Given the description of an element on the screen output the (x, y) to click on. 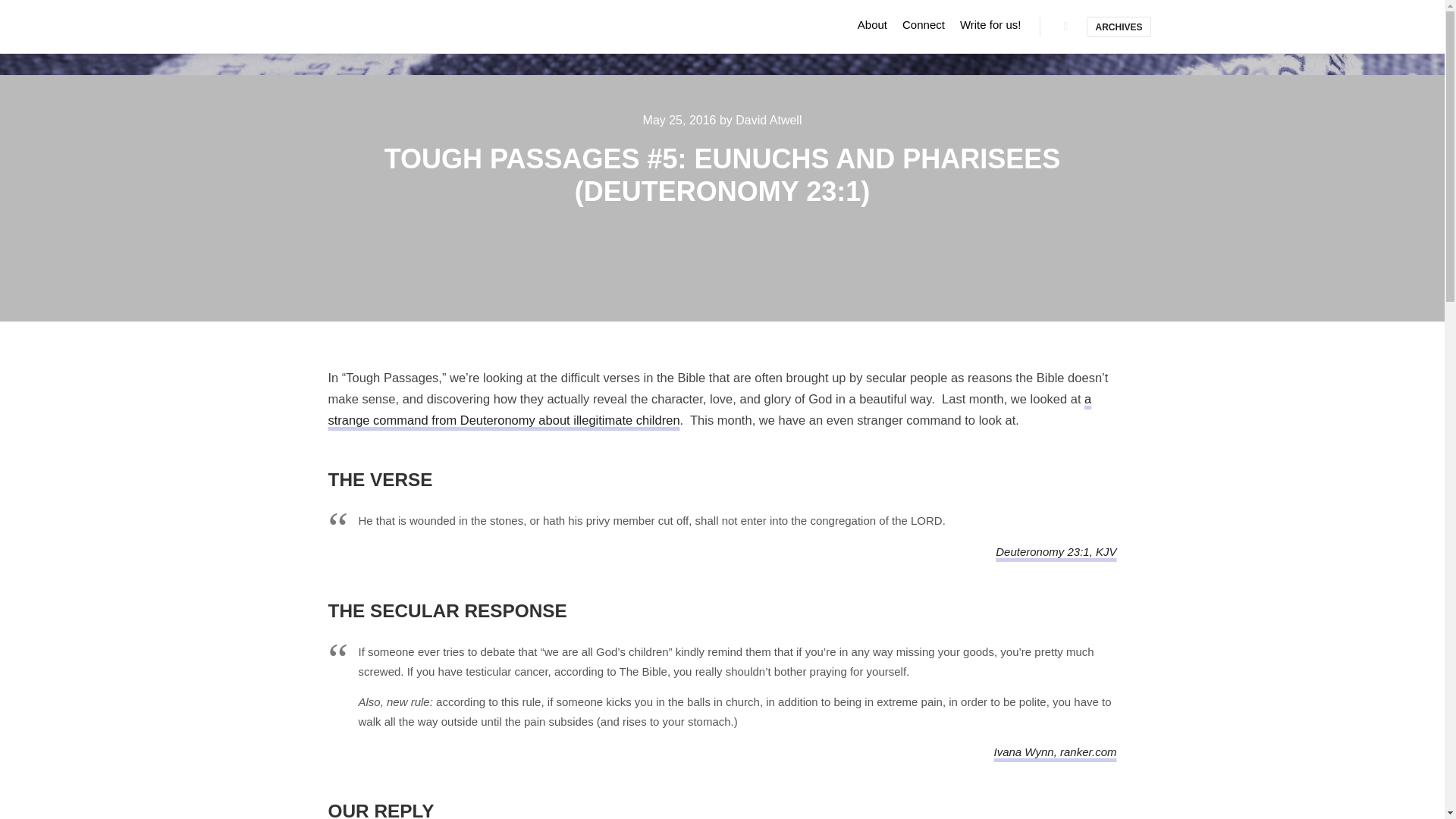
David Atwell (768, 119)
View all posts by David Atwell (768, 119)
Search (1064, 26)
Search (1064, 26)
Redeeming Culture (357, 26)
Ivana Wynn, ranker.com (1054, 751)
About (872, 24)
Connect (923, 24)
ARCHIVES (1118, 26)
